Given the description of an element on the screen output the (x, y) to click on. 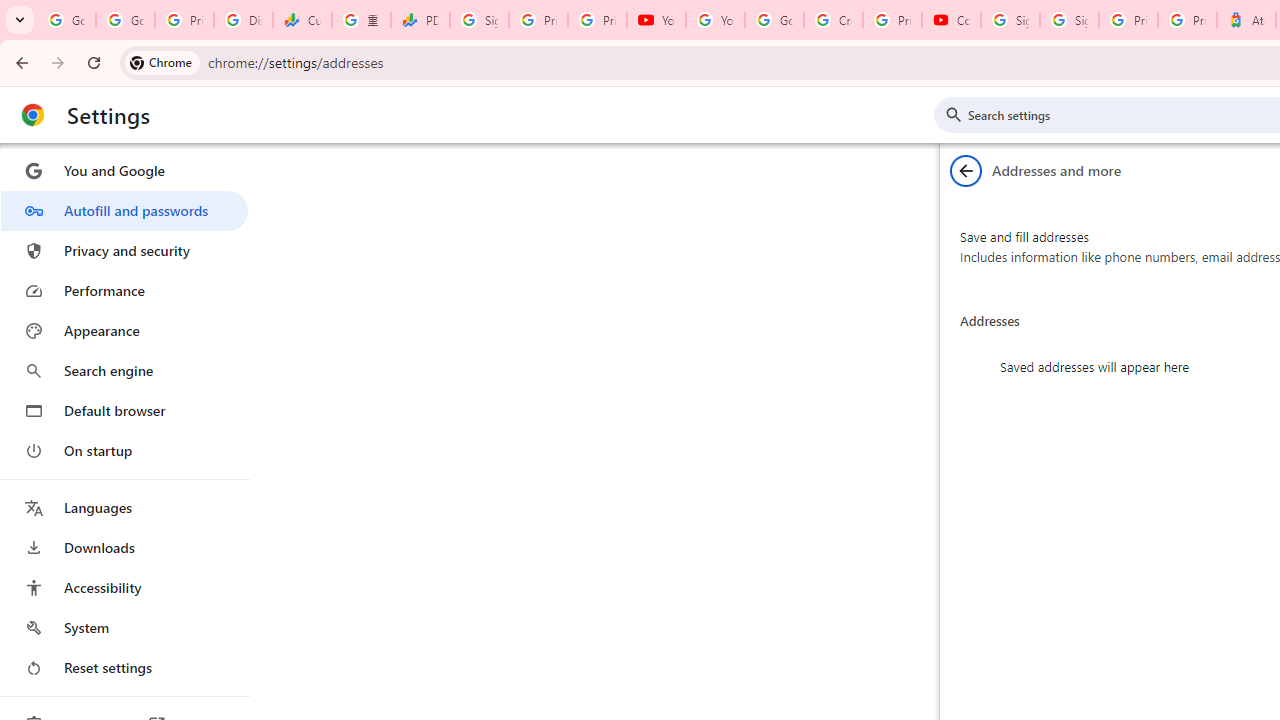
Google Workspace Admin Community (66, 20)
Sign in - Google Accounts (1010, 20)
Google Account Help (774, 20)
Search engine (124, 370)
You and Google (124, 170)
Sign in - Google Accounts (479, 20)
On startup (124, 450)
Languages (124, 507)
Privacy and security (124, 250)
PDD Holdings Inc - ADR (PDD) Price & News - Google Finance (420, 20)
